Given the description of an element on the screen output the (x, y) to click on. 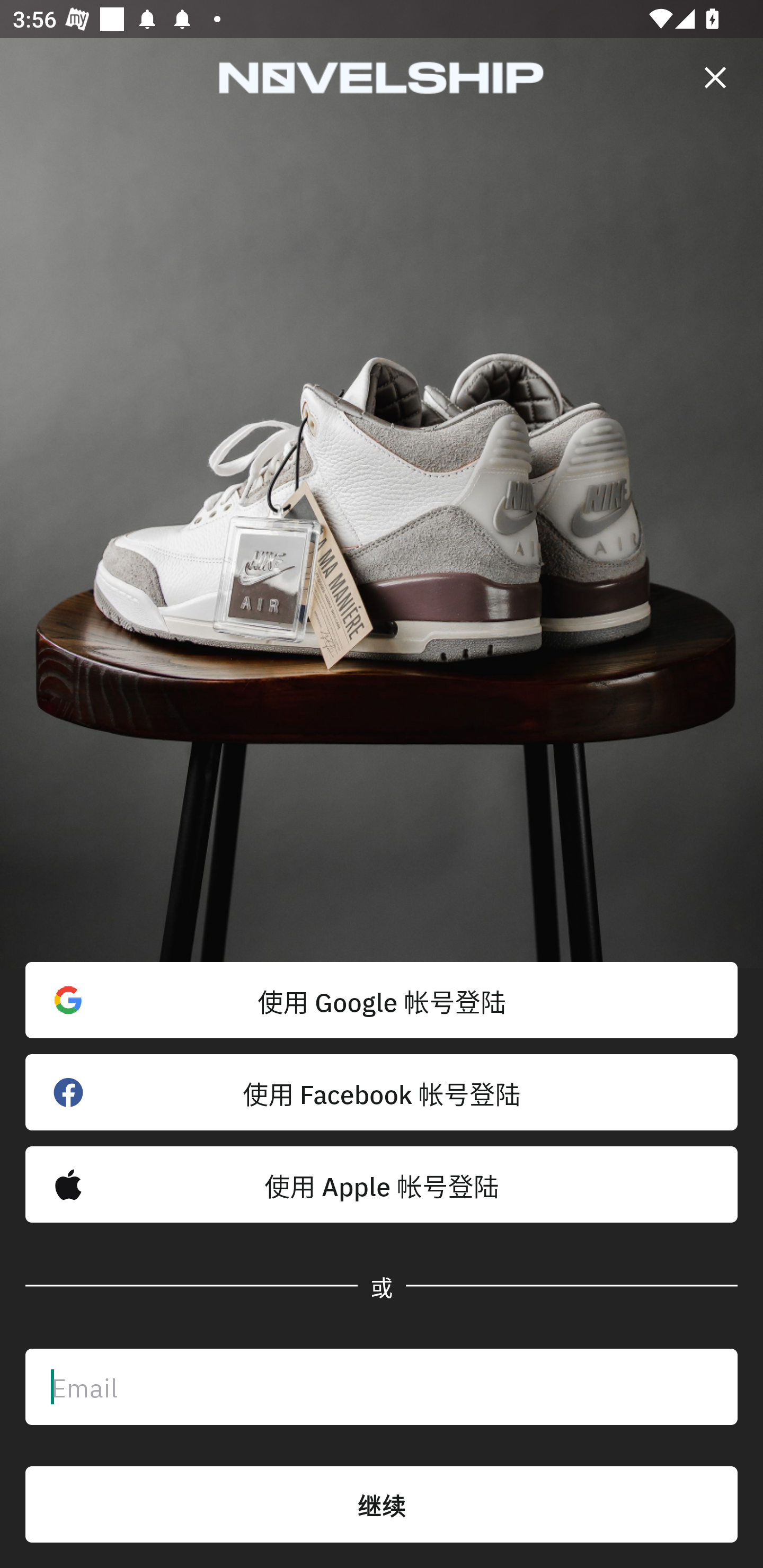
使用 Google 帐号登陆 (381, 1000)
使用 Facebook 帐号登陆 󰈌 (381, 1091)
 使用 Apple 帐号登陆 (381, 1184)
Email (381, 1386)
继续 (381, 1504)
